Given the description of an element on the screen output the (x, y) to click on. 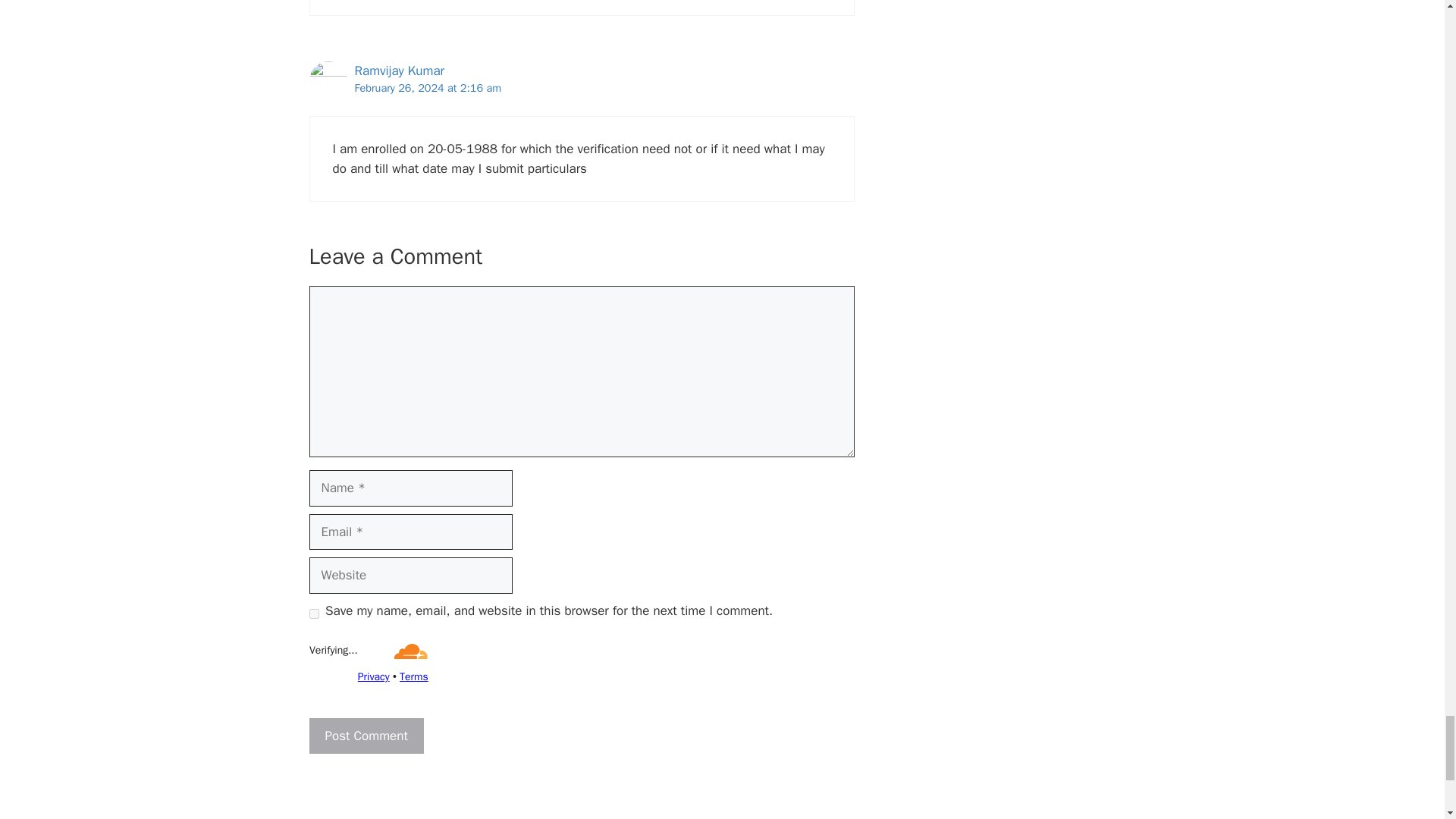
Ramvijay Kumar (400, 70)
February 26, 2024 at 2:16 am (428, 88)
Post Comment (365, 735)
Post Comment (365, 735)
yes (313, 614)
